Given the description of an element on the screen output the (x, y) to click on. 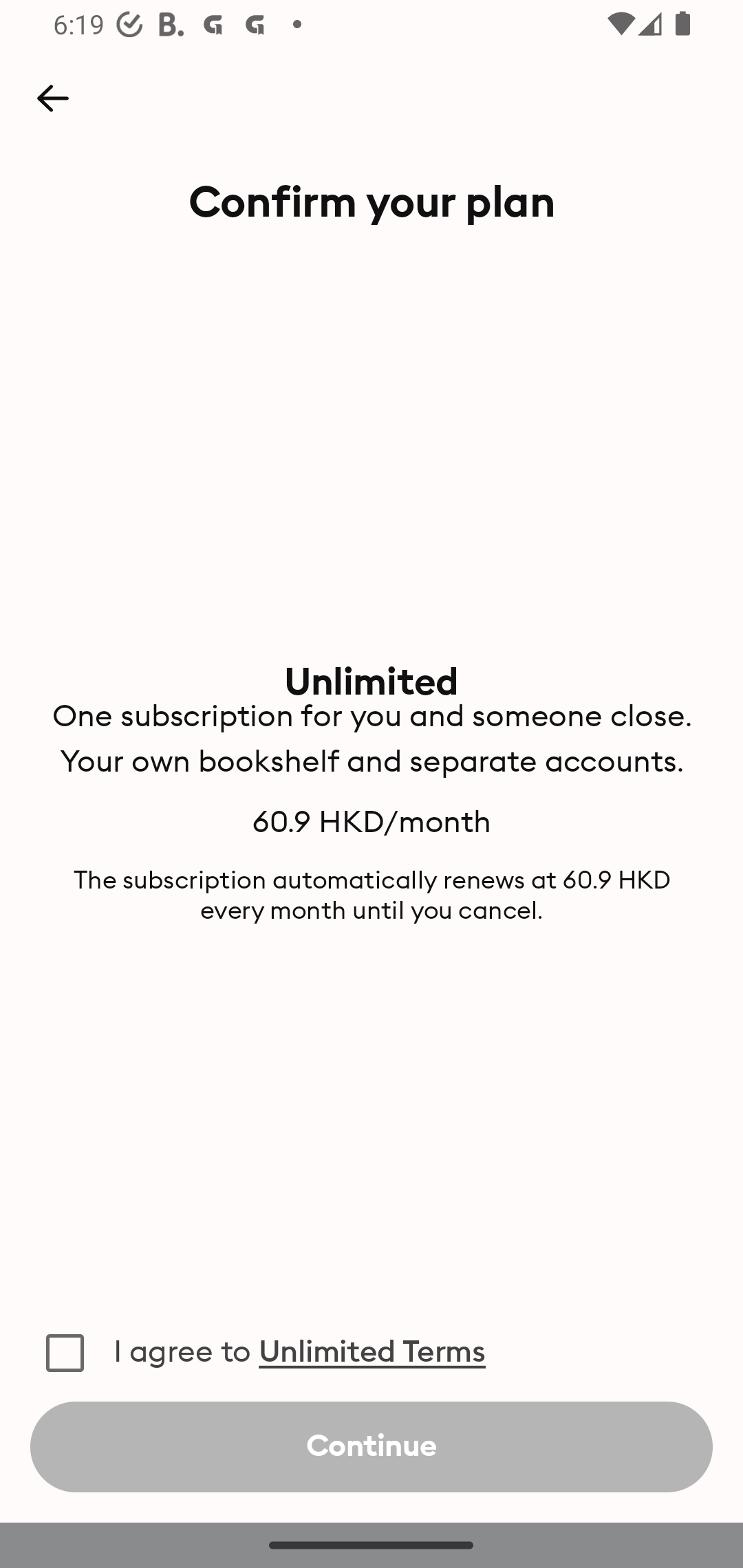
Back (52, 98)
Continue (371, 1446)
